Given the description of an element on the screen output the (x, y) to click on. 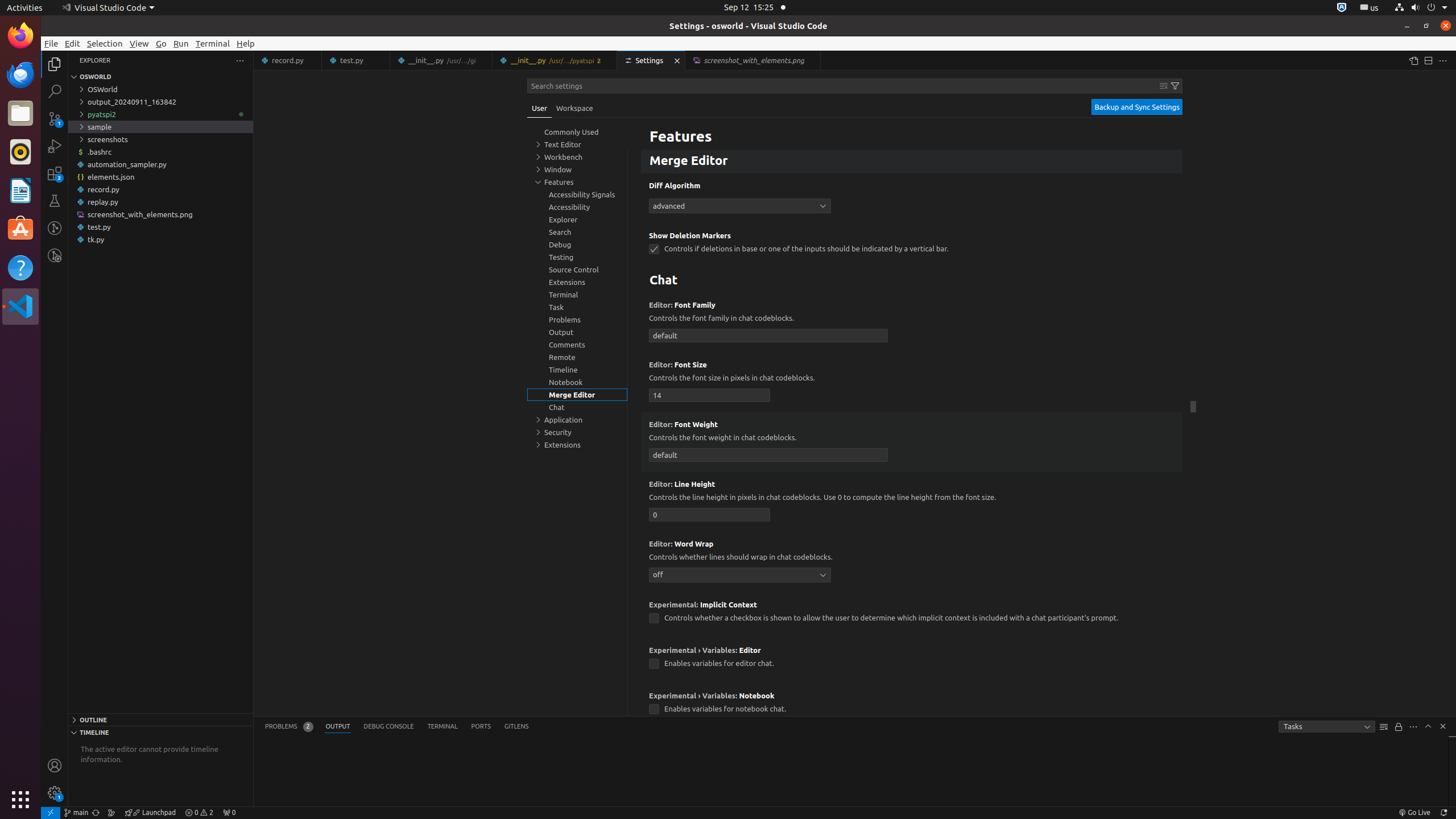
Run and Debug (Ctrl+Shift+D) Element type: page-tab (54, 145)
screenshots Element type: tree-item (160, 139)
Chat Element type: tree-item (911, 280)
__init__.py Element type: page-tab (554, 60)
chat.experimental.implicitContext Element type: check-box (653, 618)
